Given the description of an element on the screen output the (x, y) to click on. 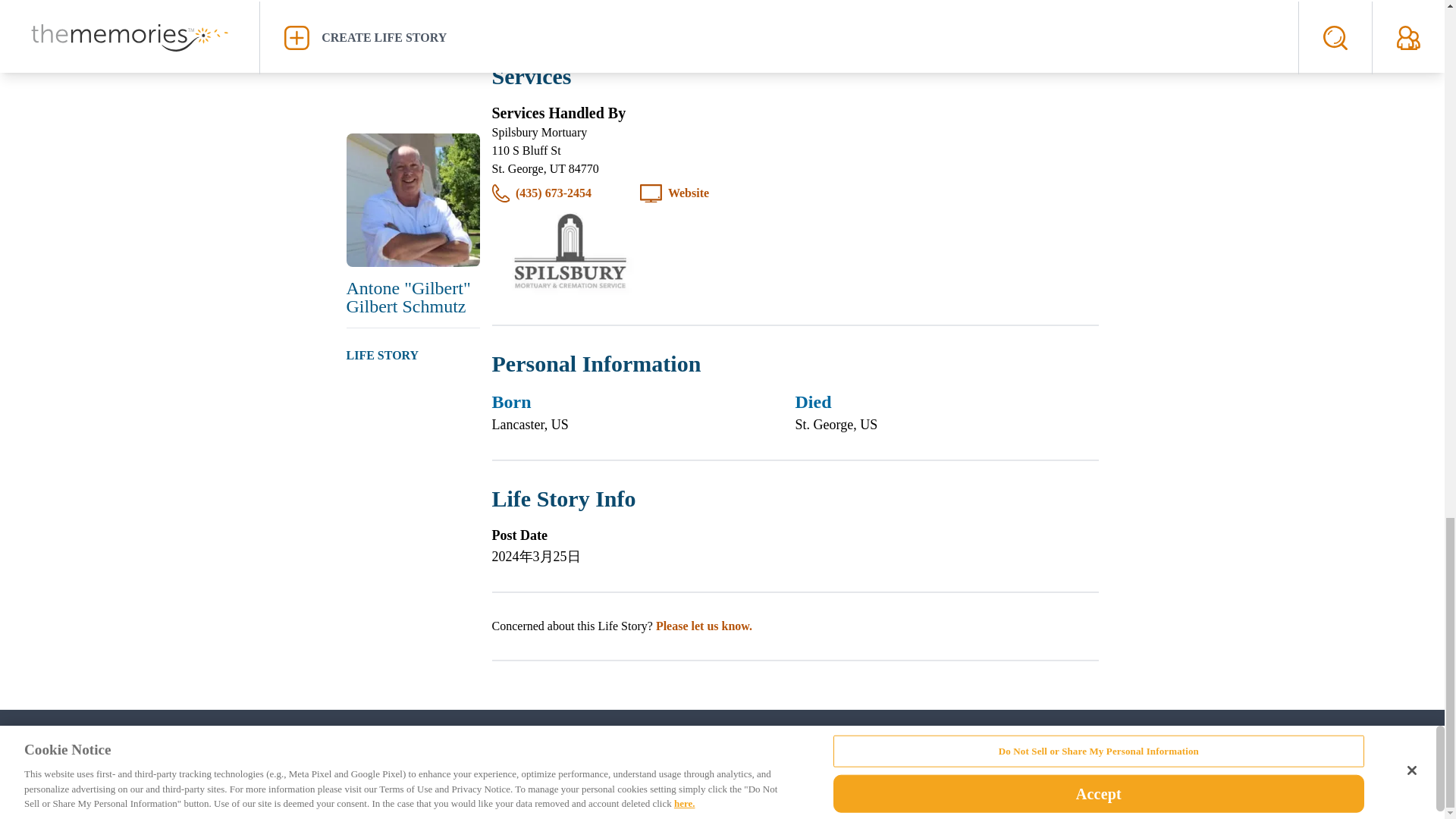
Terms of Use (905, 744)
Please let us know. (704, 625)
FAQ (641, 744)
Contact Us (531, 744)
Privacy Policy (759, 744)
Website (688, 193)
